Given the description of an element on the screen output the (x, y) to click on. 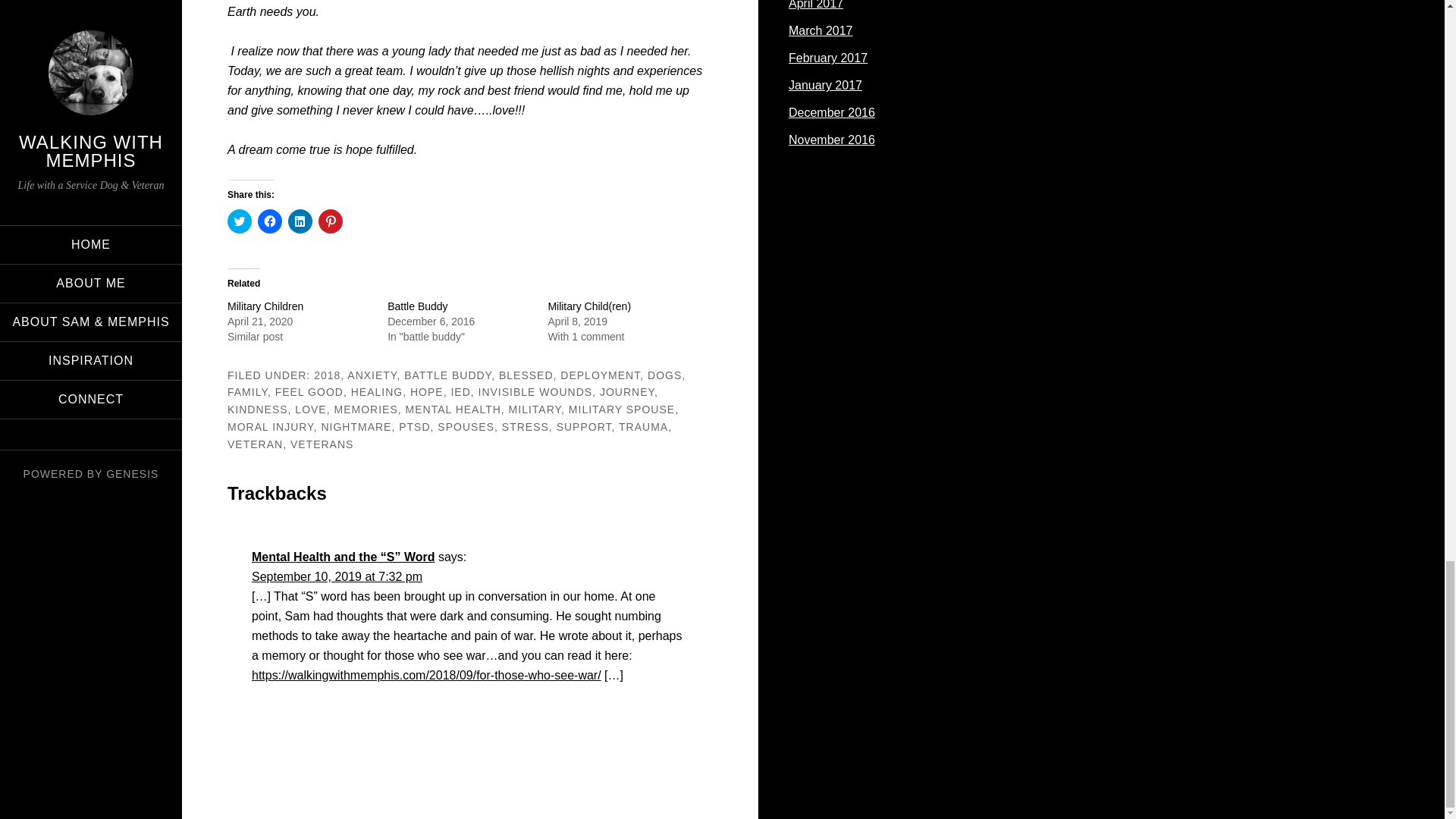
HEALING (376, 391)
Click to share on LinkedIn (300, 221)
Click to share on Twitter (239, 221)
BLESSED (526, 375)
NIGHTMARE (355, 426)
Military Children (264, 306)
Click to share on Facebook (269, 221)
IED (459, 391)
LOVE (310, 409)
Click to share on Pinterest (330, 221)
INVISIBLE WOUNDS (535, 391)
KINDNESS (257, 409)
MEMORIES (365, 409)
ANXIETY (371, 375)
DOGS (664, 375)
